Given the description of an element on the screen output the (x, y) to click on. 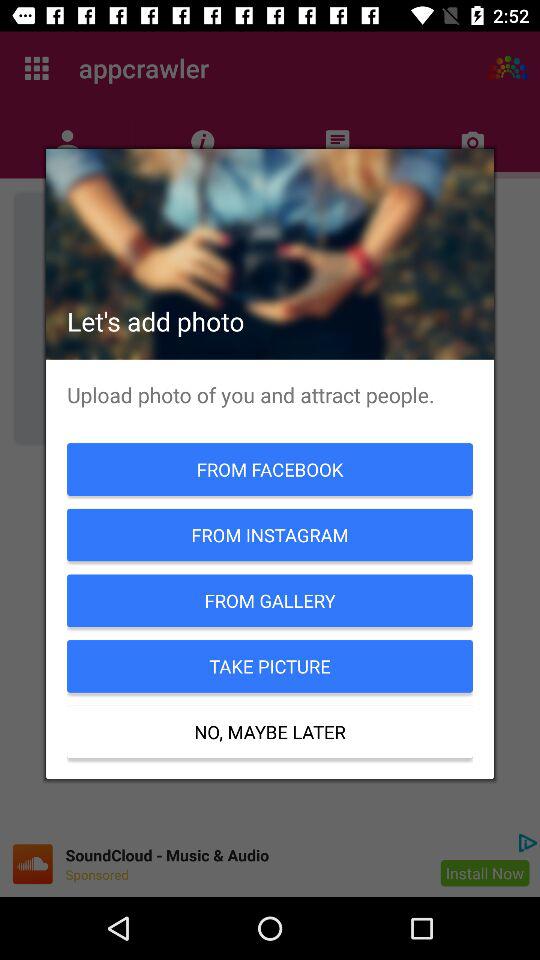
turn on the icon above the from gallery item (269, 534)
